Given the description of an element on the screen output the (x, y) to click on. 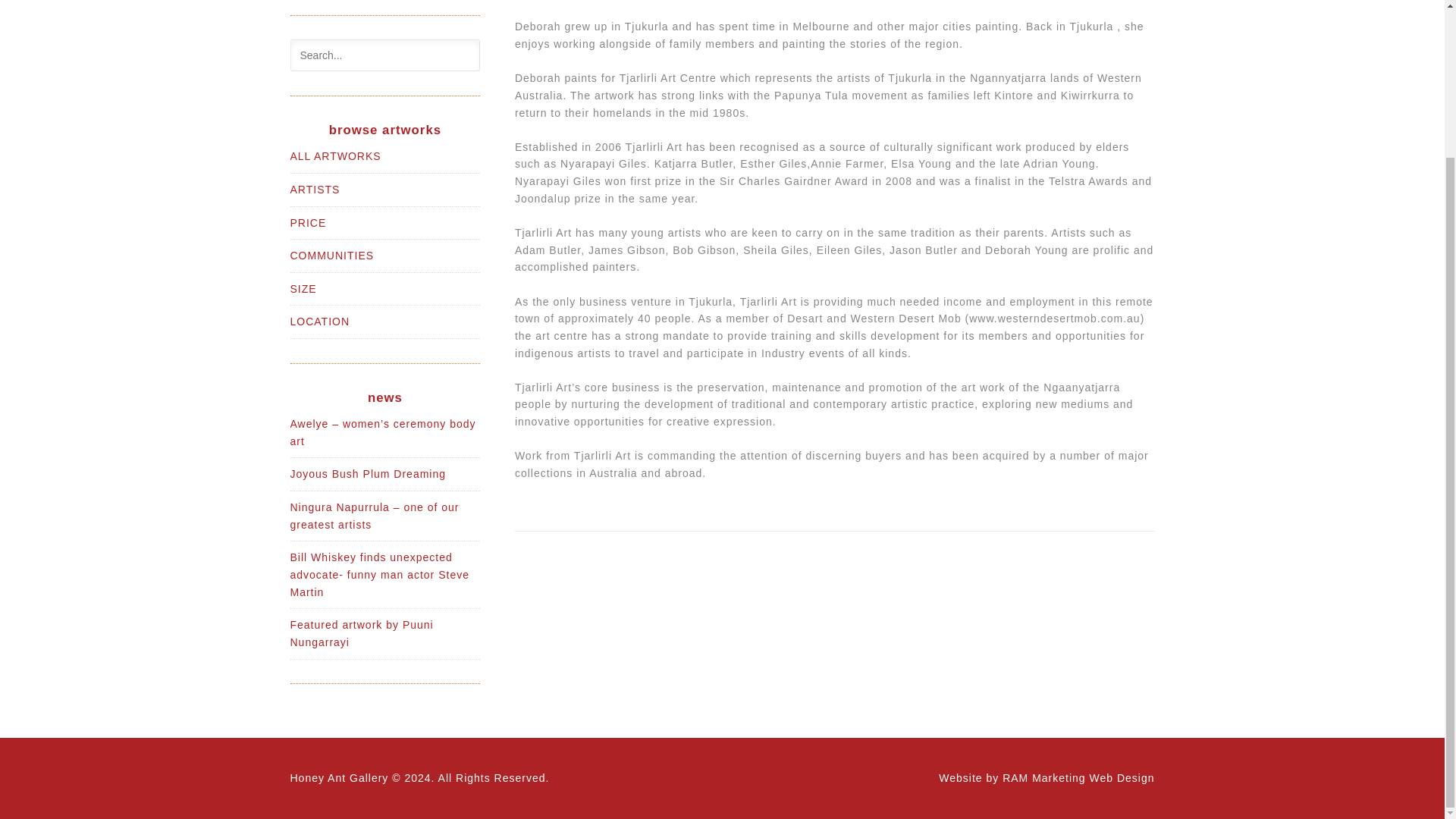
ALL ARTWORKS (334, 155)
ARTISTS (314, 189)
